Given the description of an element on the screen output the (x, y) to click on. 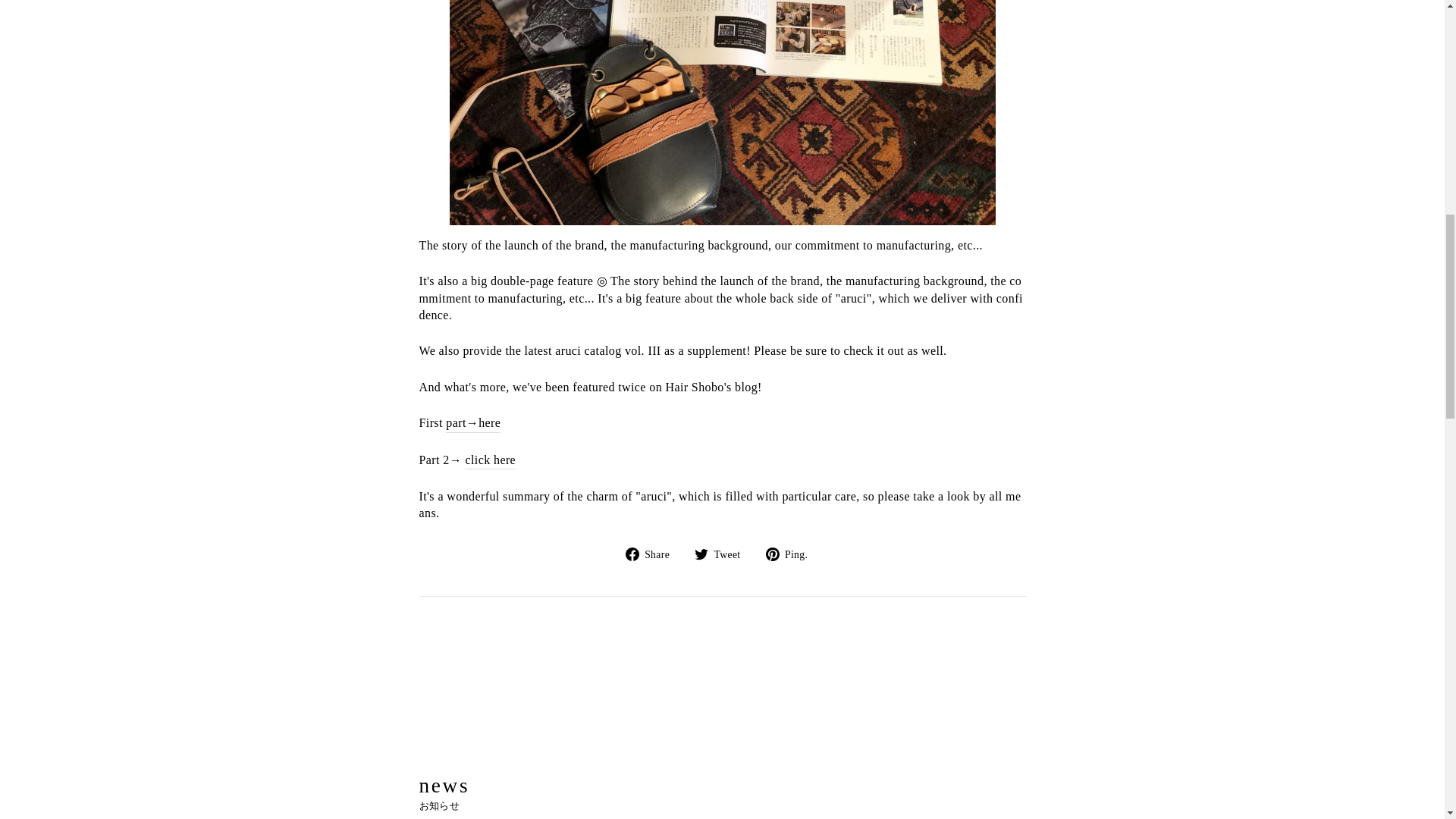
Share on Facebook (653, 553)
Post to Twitter (722, 553)
Pin on Pinterest (792, 553)
